Given the description of an element on the screen output the (x, y) to click on. 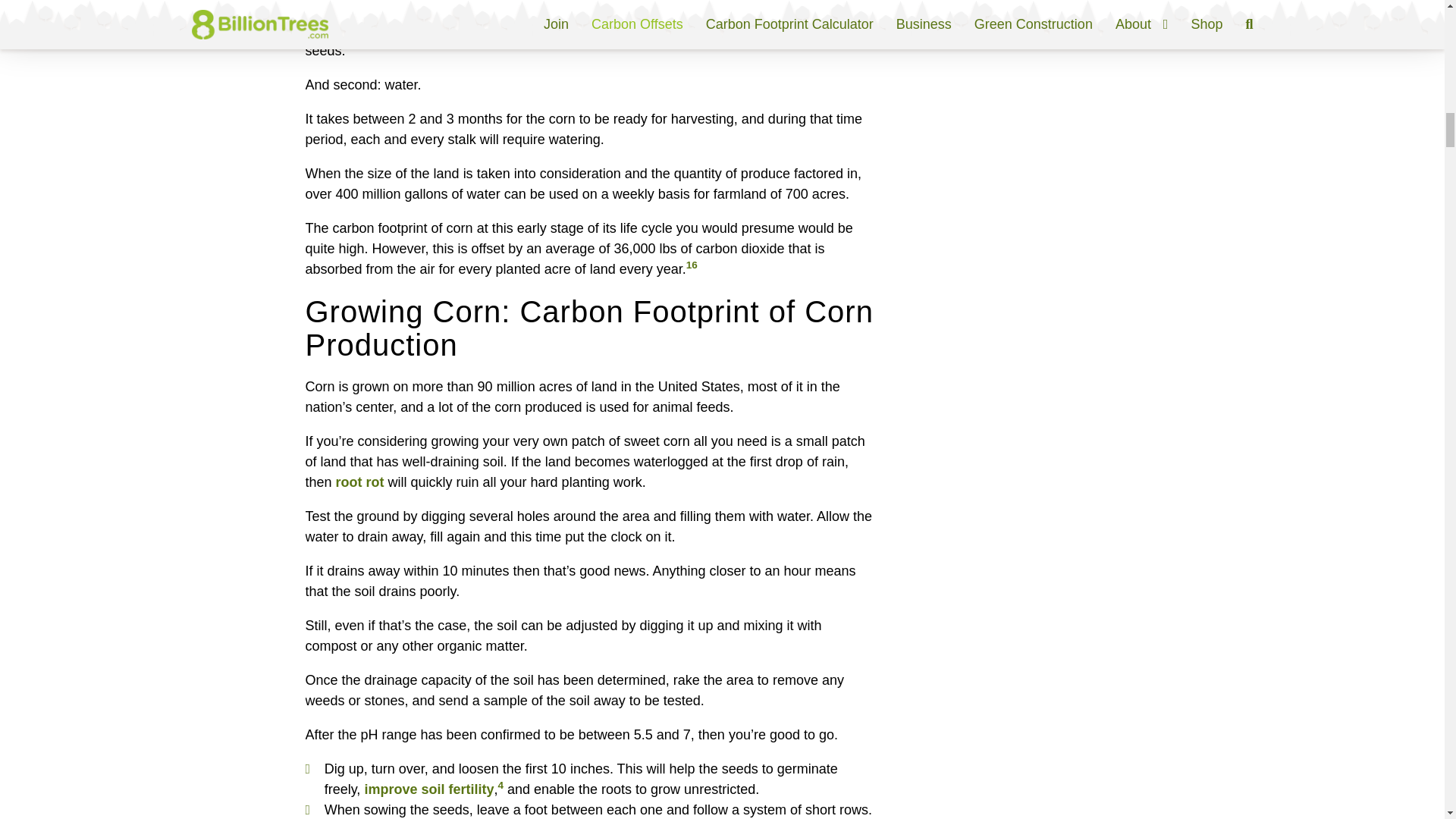
improve soil fertility (428, 789)
root rot (360, 482)
16 (691, 265)
